Given the description of an element on the screen output the (x, y) to click on. 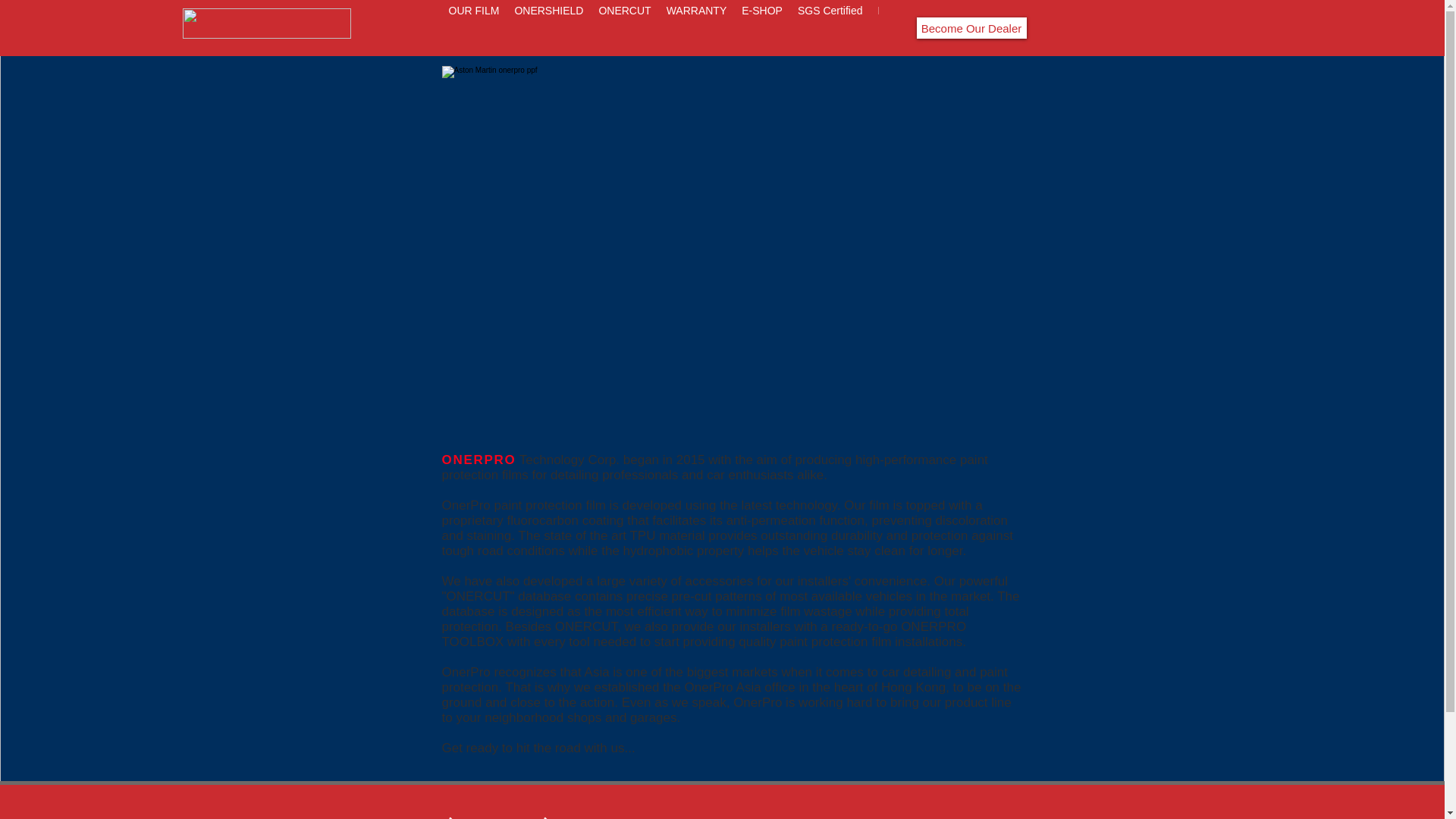
ONERCUT (624, 28)
Become Our Dealer (970, 27)
SGS Certified (830, 28)
E-SHOP (761, 28)
WARRANTY (697, 28)
ONERSHIELD (535, 814)
ONERSHIELD (548, 28)
ABOUT US (441, 814)
OUR FILM (473, 28)
